Given the description of an element on the screen output the (x, y) to click on. 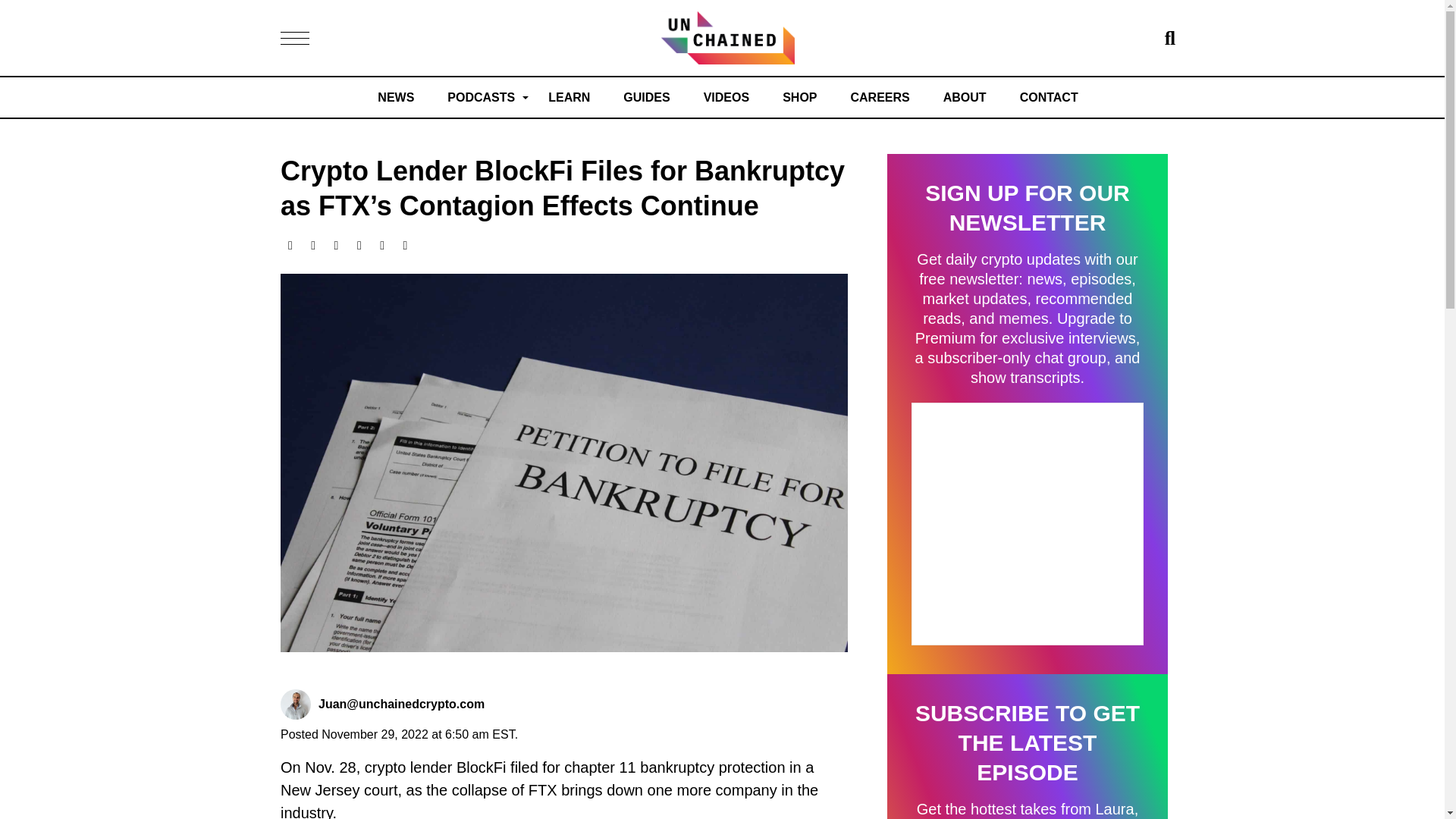
GUIDES (646, 97)
VIDEOS (726, 97)
PODCASTS (480, 97)
CAREERS (880, 97)
NEWS (395, 97)
LEARN (568, 97)
SHOP (799, 97)
ABOUT (965, 97)
CONTACT (1049, 97)
